Given the description of an element on the screen output the (x, y) to click on. 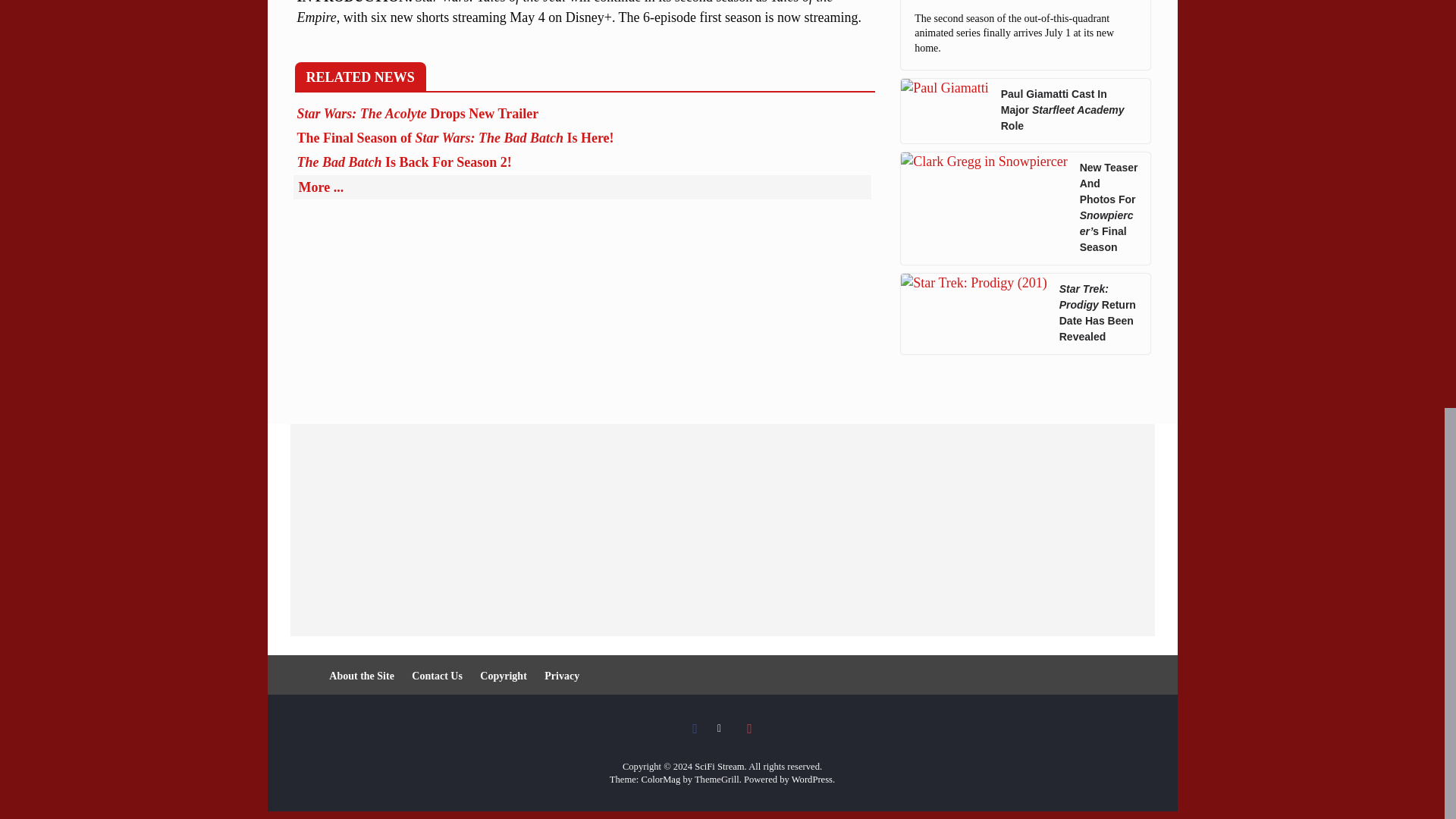
Paul Giamatti Cast In Major Starfleet Academy Role (944, 110)
Paul Giamatti Cast In Major Starfleet Academy Role (1069, 110)
